Given the description of an element on the screen output the (x, y) to click on. 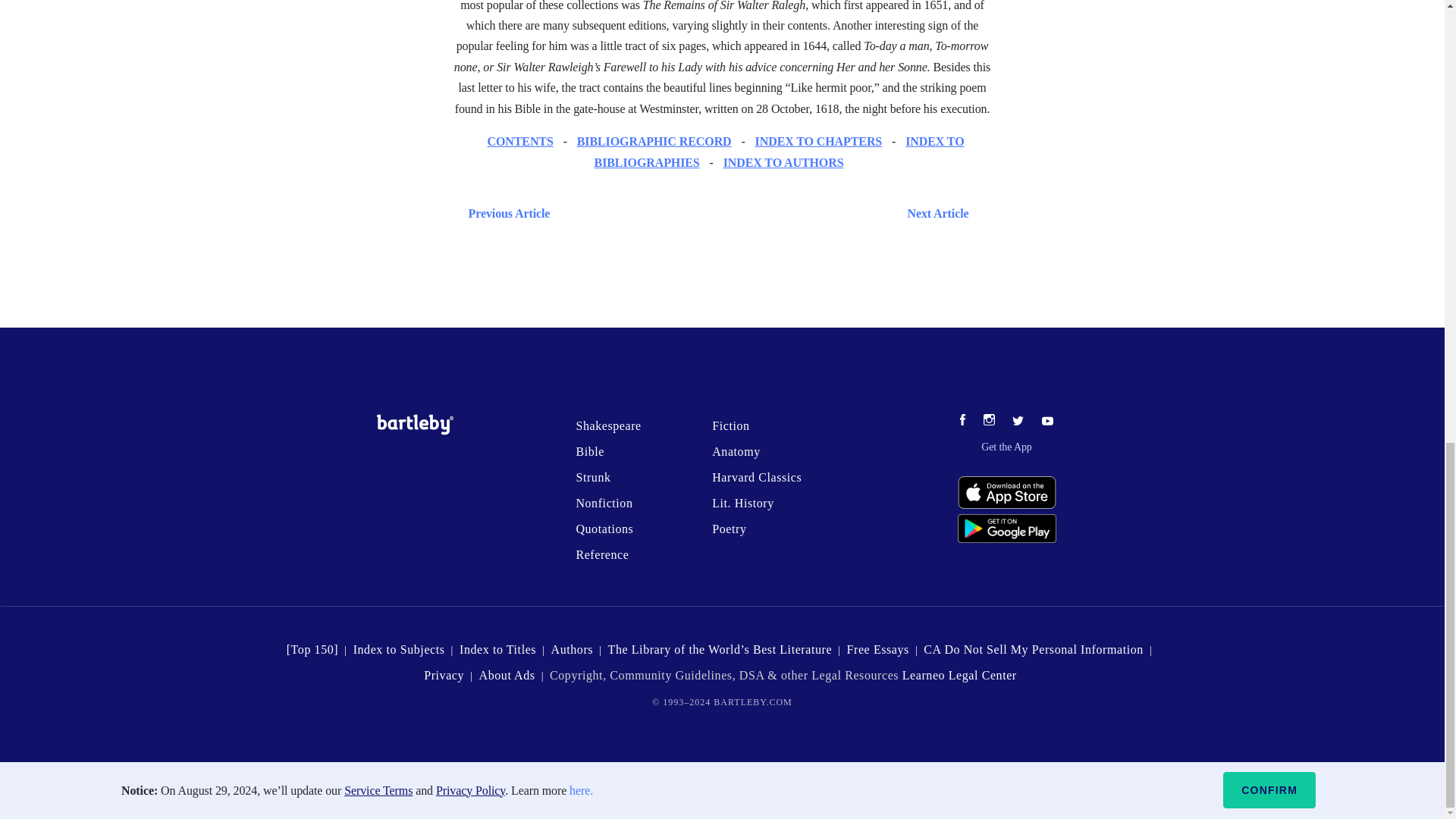
Fiction (730, 425)
INDEX TO BIBLIOGRAPHIES (778, 151)
Shakespeare (607, 425)
Strunk (592, 477)
Reference (601, 554)
Anatomy (735, 451)
Nonfiction (603, 502)
CONTENTS (519, 141)
Bible (589, 451)
Quotations (604, 528)
